Given the description of an element on the screen output the (x, y) to click on. 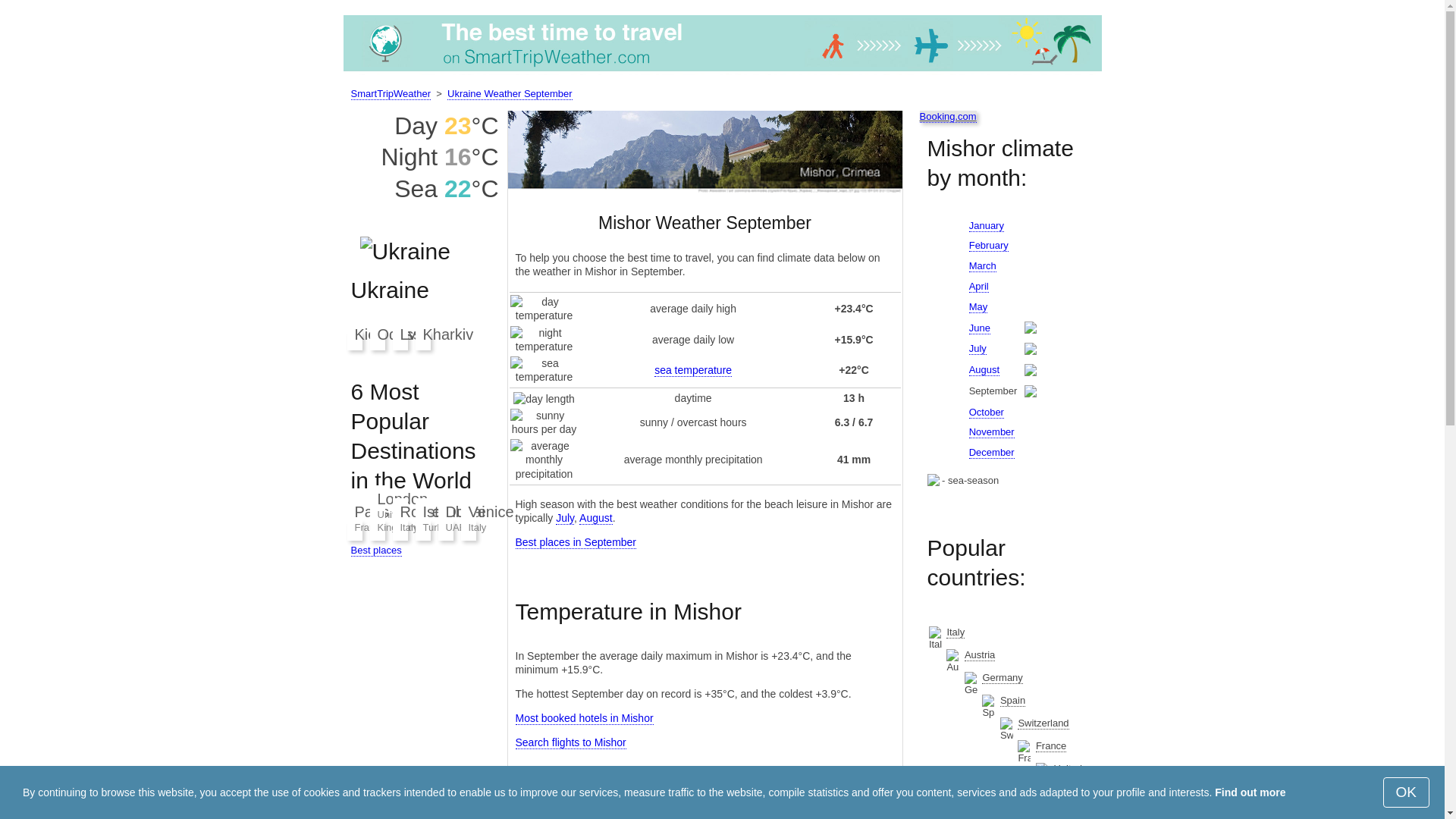
Ukraine Weather September (509, 93)
SmartTripWeather (721, 70)
day temperature (543, 308)
Mishor (705, 151)
Search flights to Mishor (570, 742)
SmartTripWeather (389, 93)
day length (544, 398)
France (1050, 746)
Rimini (788, 816)
sea temperature (543, 370)
